Given the description of an element on the screen output the (x, y) to click on. 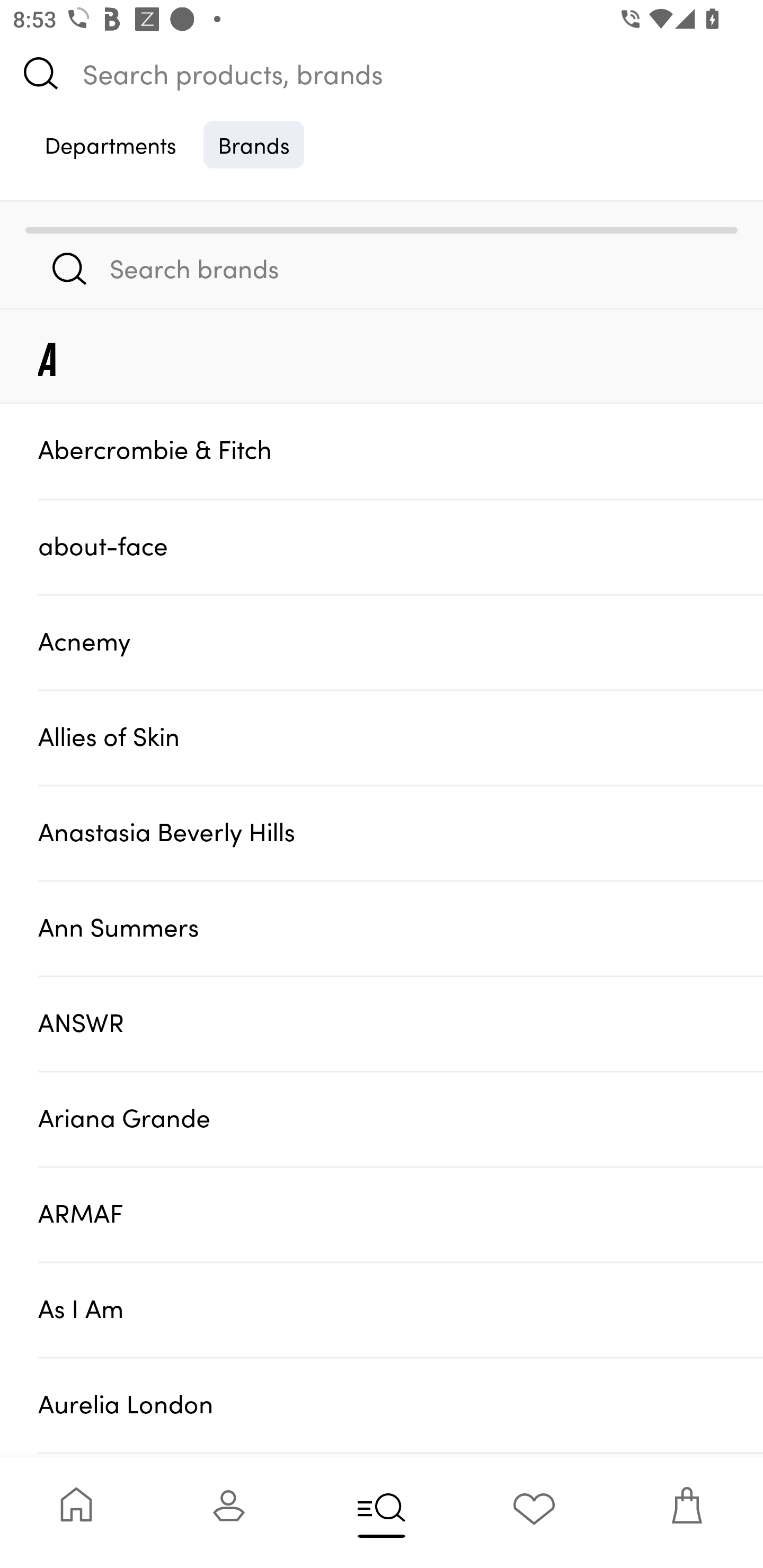
Search products, brands (381, 72)
Departments (110, 143)
Brands (253, 143)
Abercrombie & Fitch (400, 450)
about-face (400, 546)
Acnemy (400, 641)
Allies of Skin (400, 737)
Anastasia Beverly Hills (400, 832)
Ann Summers (400, 927)
ANSWR (400, 1022)
Ariana Grande (400, 1118)
ARMAF (400, 1214)
As I Am (400, 1309)
Aurelia London (400, 1404)
